Given the description of an element on the screen output the (x, y) to click on. 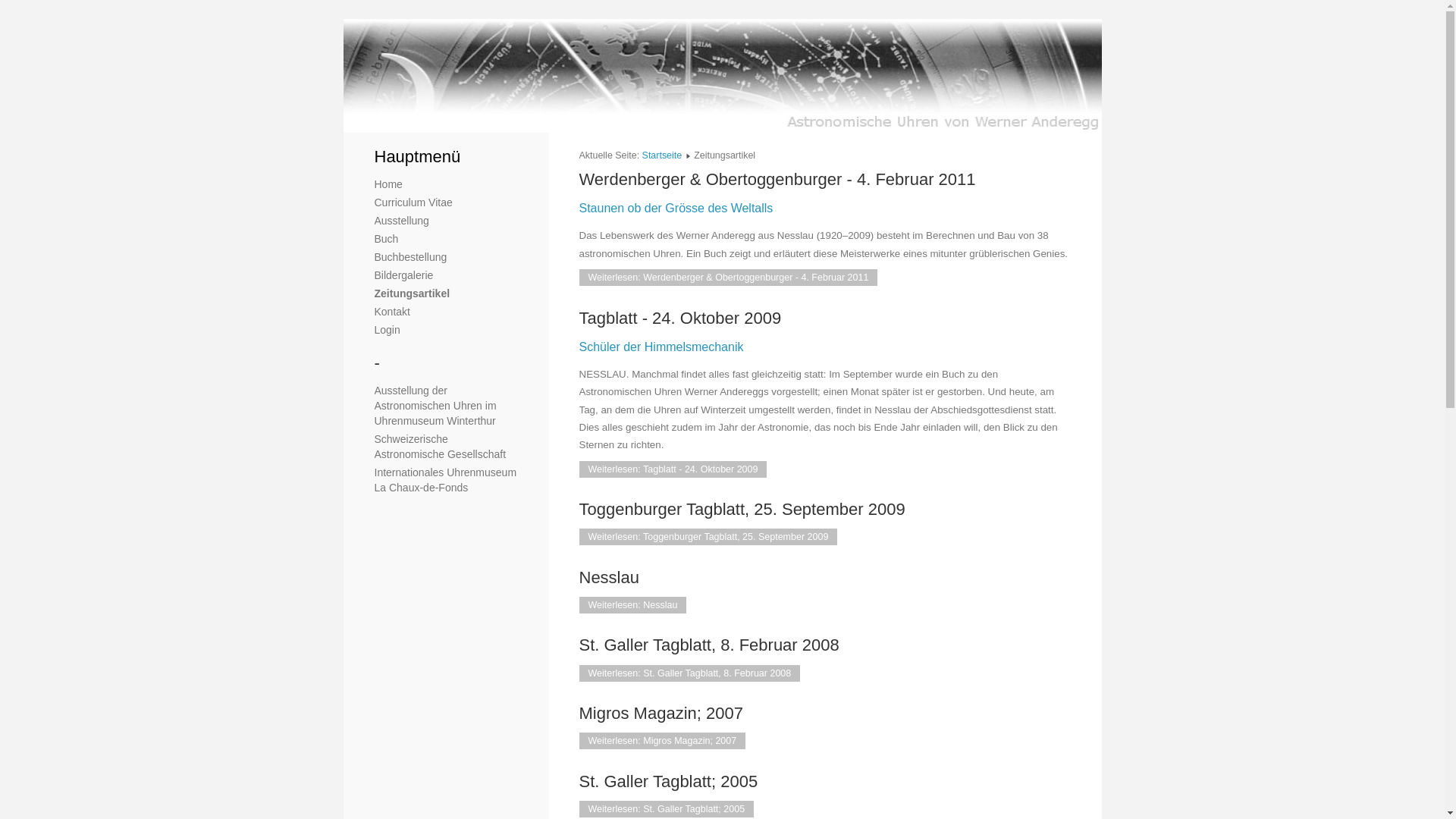
Zeitungsartikel Element type: text (412, 293)
4 Element type: text (401, 117)
Kontakt Element type: text (392, 311)
Login Element type: text (387, 329)
Weiterlesen: Nesslau Element type: text (633, 604)
Weiterlesen: St. Galler Tagblatt; 2005 Element type: text (666, 808)
2 Element type: text (372, 117)
Tagblatt - 24. Oktober 2009 Element type: text (680, 317)
Buch Element type: text (386, 238)
1 Element type: text (359, 117)
Schweizerische Astronomische Gesellschaft Element type: text (440, 446)
St. Galler Tagblatt, 8. Februar 2008 Element type: text (709, 644)
Internationales Uhrenmuseum La Chaux-de-Fonds Element type: text (445, 479)
Buchbestellung Element type: text (410, 257)
Migros Magazin; 2007 Element type: text (661, 712)
Weiterlesen: Tagblatt - 24. Oktober 2009 Element type: text (673, 469)
Bildergalerie Element type: text (403, 275)
Weiterlesen: Toggenburger Tagblatt, 25. September 2009 Element type: text (708, 536)
Weiterlesen: Migros Magazin; 2007 Element type: text (662, 740)
3 Element type: text (387, 117)
Ausstellung Element type: text (401, 220)
Startseite Element type: text (662, 155)
Weiterlesen: St. Galler Tagblatt, 8. Februar 2008 Element type: text (689, 673)
Toggenburger Tagblatt, 25. September 2009 Element type: text (742, 508)
Home Element type: text (388, 184)
Nesslau Element type: text (609, 576)
Werdenberger & Obertoggenburger - 4. Februar 2011 Element type: text (777, 178)
St. Galler Tagblatt; 2005 Element type: text (668, 780)
Curriculum Vitae Element type: text (413, 202)
